Given the description of an element on the screen output the (x, y) to click on. 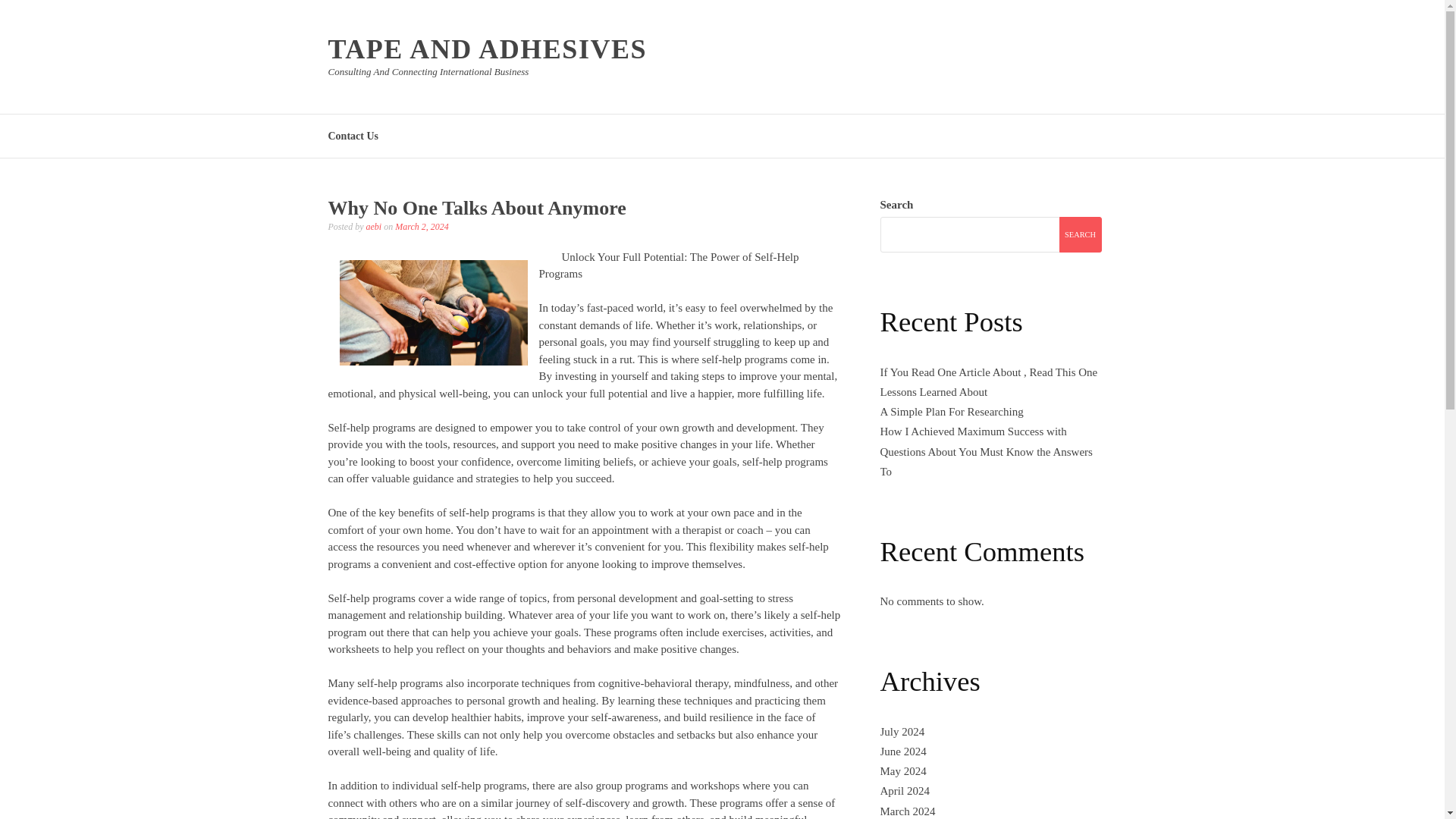
July 2024 (901, 731)
March 2024 (906, 811)
Questions About You Must Know the Answers To (985, 461)
Contact Us (352, 135)
March 2, 2024 (421, 226)
May 2024 (902, 770)
How I Achieved Maximum Success with (972, 431)
Lessons Learned About (933, 391)
TAPE AND ADHESIVES (486, 49)
aebi (373, 226)
SEARCH (1079, 234)
June 2024 (902, 751)
A Simple Plan For Researching (951, 411)
If You Read One Article About , Read This One (988, 372)
April 2024 (903, 790)
